Given the description of an element on the screen output the (x, y) to click on. 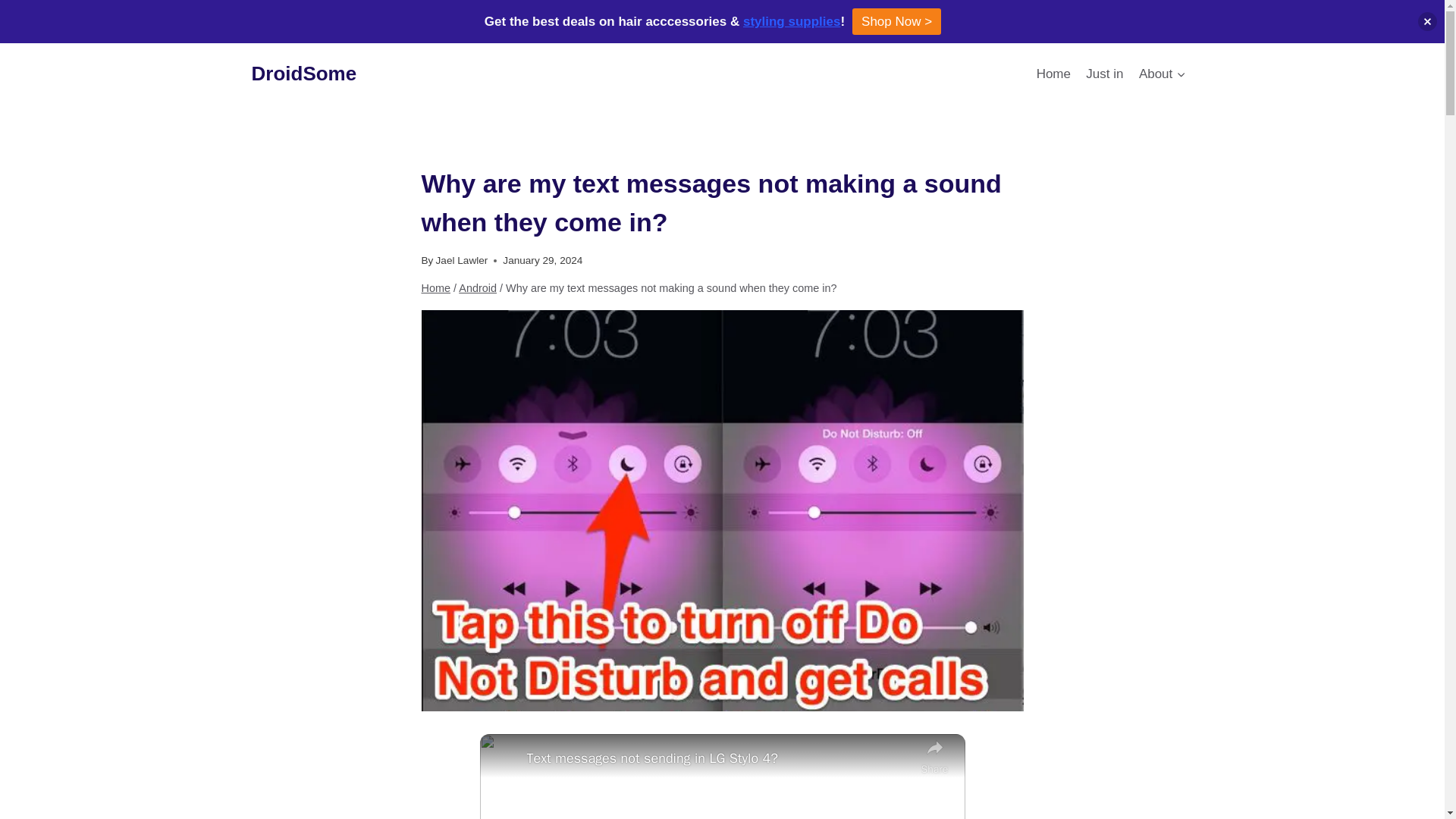
DroidSome (303, 73)
Android (477, 287)
Text messages not sending in LG Stylo 4? (718, 758)
Home (436, 287)
Home (1052, 73)
Just in (1104, 73)
About (1162, 73)
Jael Lawler (461, 260)
